Given the description of an element on the screen output the (x, y) to click on. 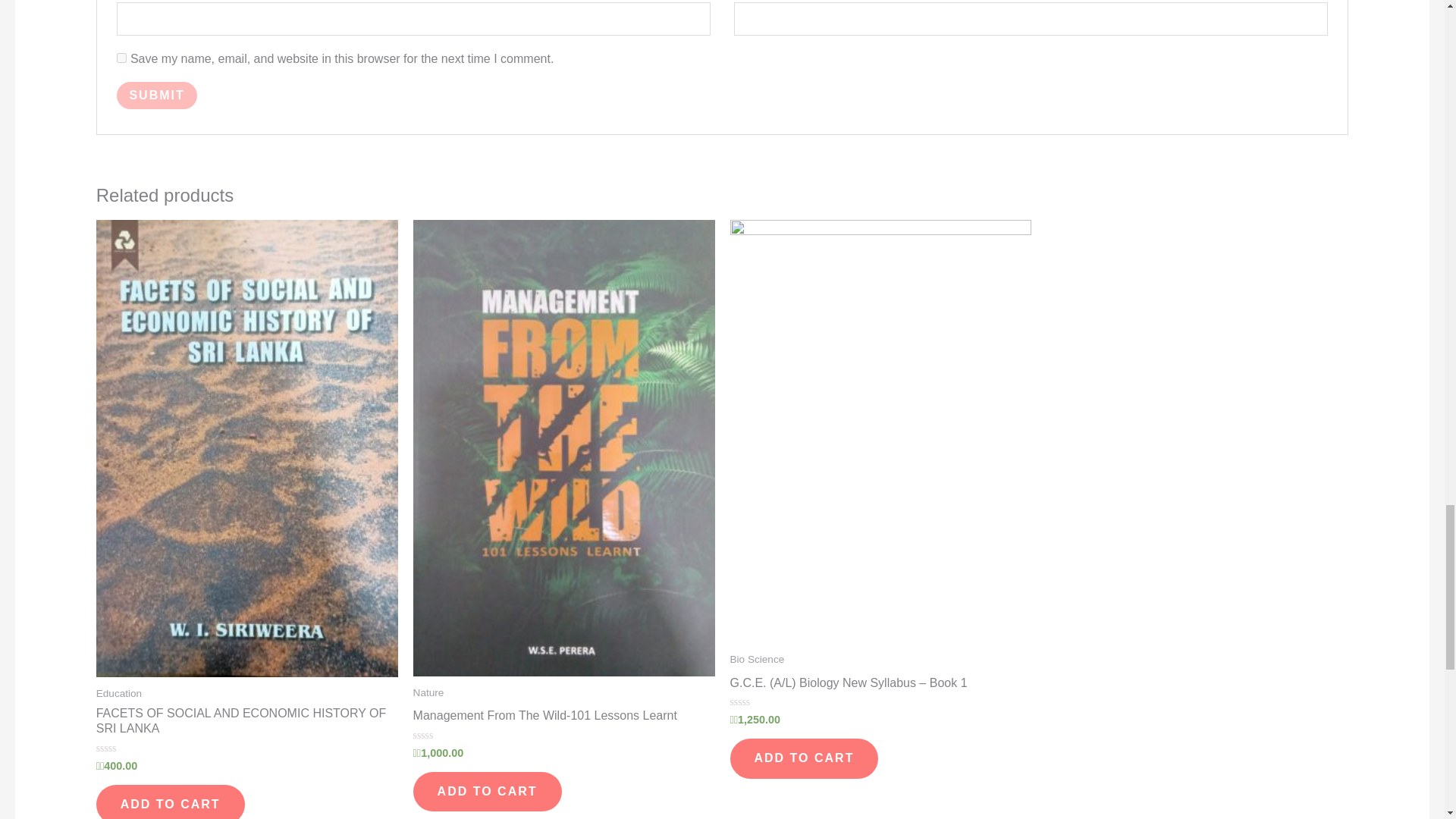
Submit (156, 94)
FACETS OF SOCIAL AND ECONOMIC HISTORY OF SRI LANKA (246, 724)
yes (121, 58)
Submit (156, 94)
ADD TO CART (170, 801)
